Given the description of an element on the screen output the (x, y) to click on. 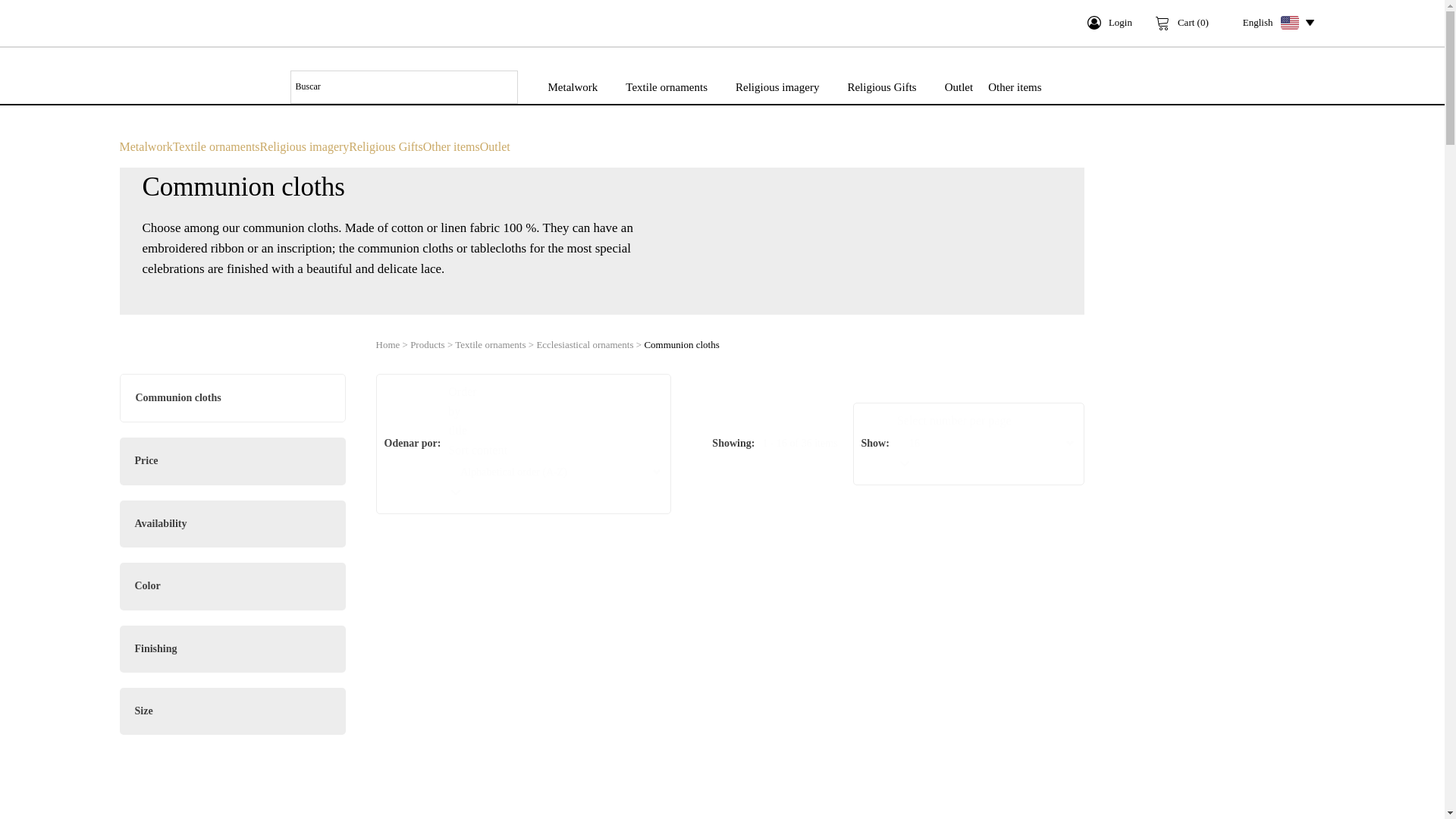
Metalwork (572, 87)
Textile ornaments (665, 87)
Login (1109, 23)
